Given the description of an element on the screen output the (x, y) to click on. 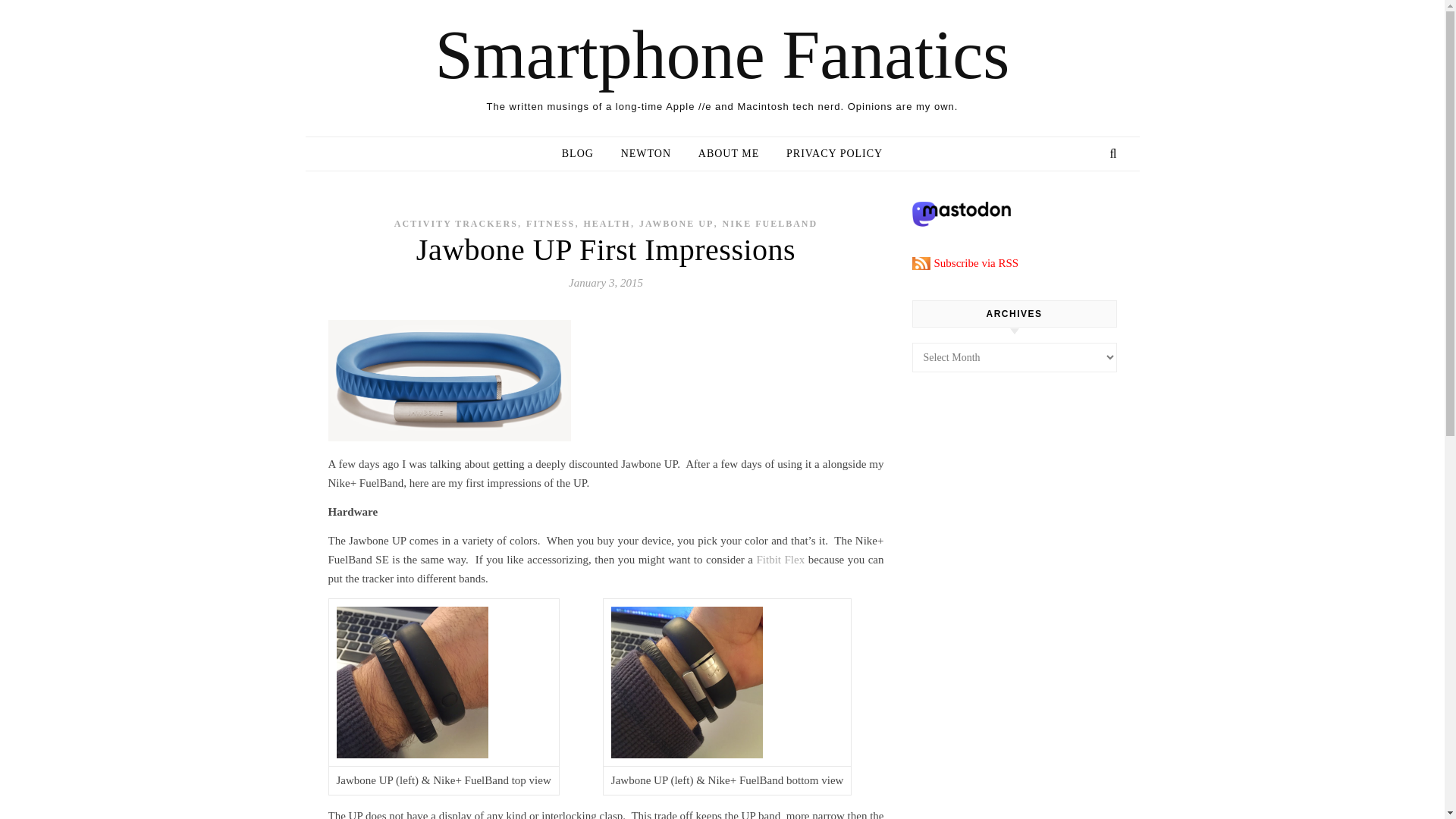
NIKE FUELBAND (769, 223)
ABOUT ME (728, 153)
JAWBONE UP (676, 223)
Subscribe via RSS (964, 263)
HEALTH (606, 223)
Fitbit Flex (781, 559)
NEWTON (645, 153)
ACTIVITY TRACKERS (456, 223)
FITNESS (550, 223)
Smartphone Fanatics (722, 55)
PRIVACY POLICY (828, 153)
BLOG (583, 153)
